Given the description of an element on the screen output the (x, y) to click on. 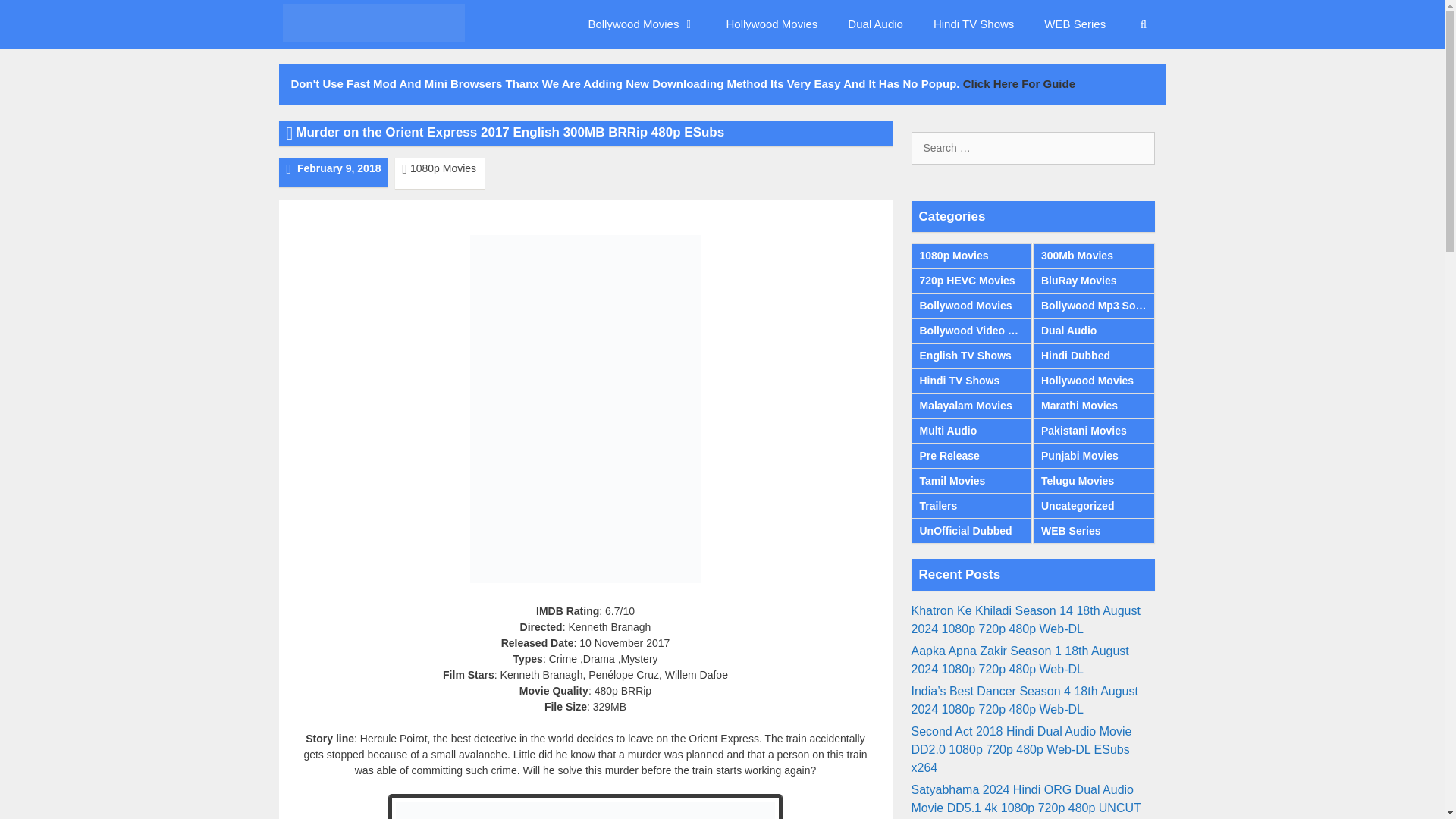
Murder on the Orient Express 2017 English 480p BRRip ESubs (584, 806)
Search (32, 16)
Click Here For Guide (1018, 83)
Hollywood Movies (771, 23)
Telugu Movies (1093, 480)
BluRay Movies (1093, 280)
Malayalam Movies (971, 405)
Pre Release (971, 455)
Search for: (1032, 147)
Dual Audio (875, 23)
